Given the description of an element on the screen output the (x, y) to click on. 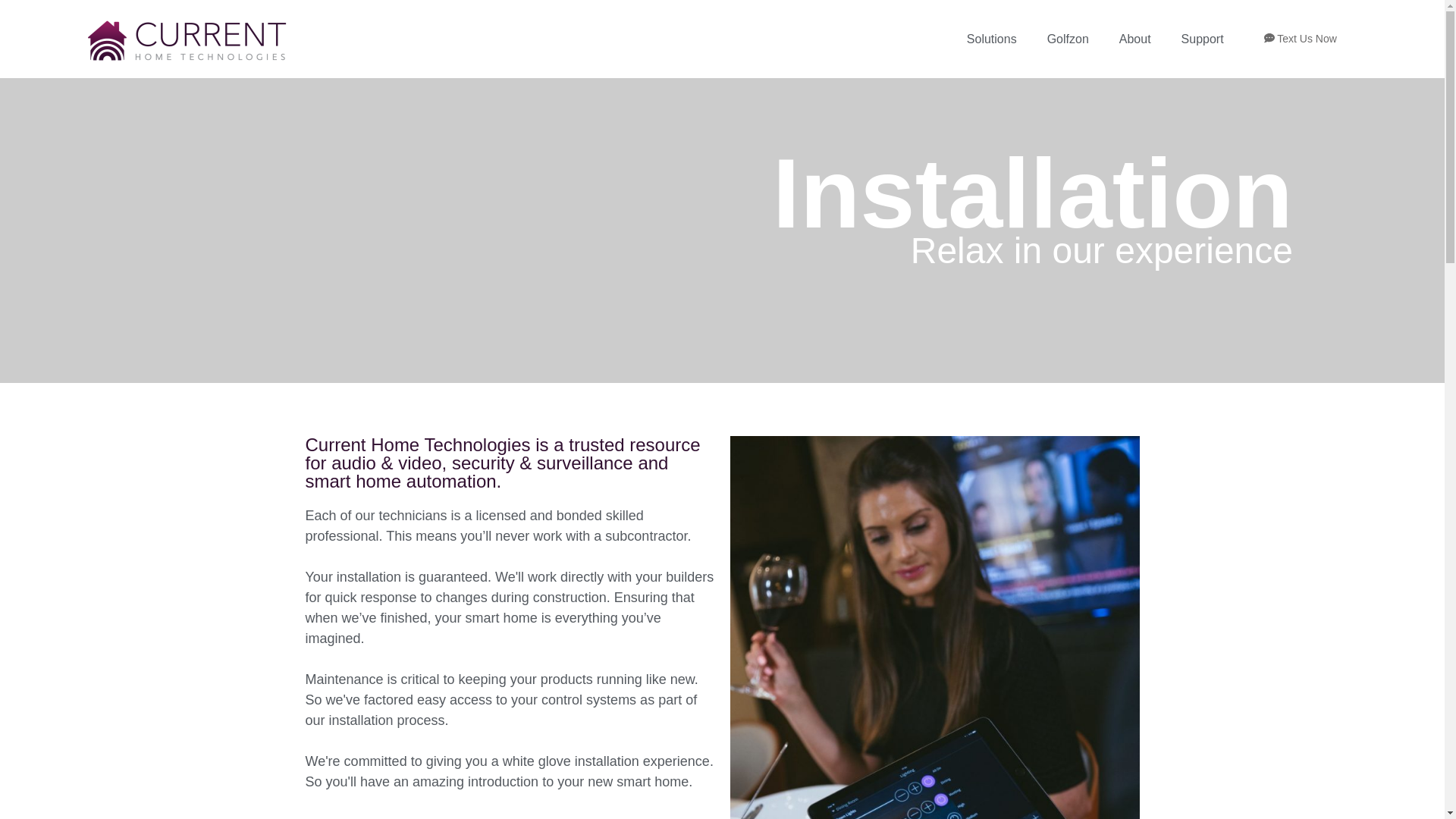
About (1134, 38)
Support (1202, 38)
Golfzon (1067, 38)
Solutions (992, 38)
